Given the description of an element on the screen output the (x, y) to click on. 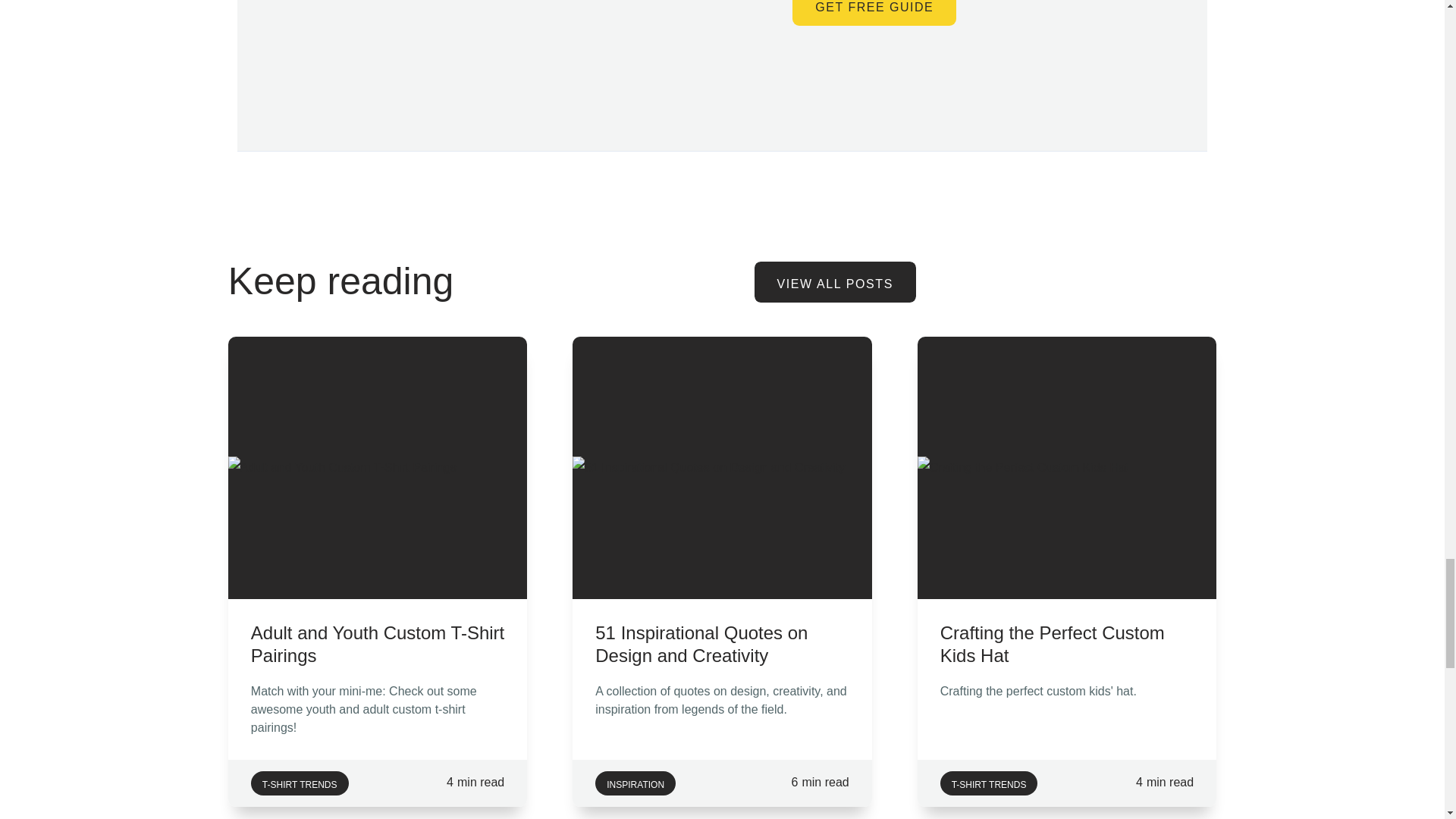
GET FREE GUIDE (874, 12)
